Given the description of an element on the screen output the (x, y) to click on. 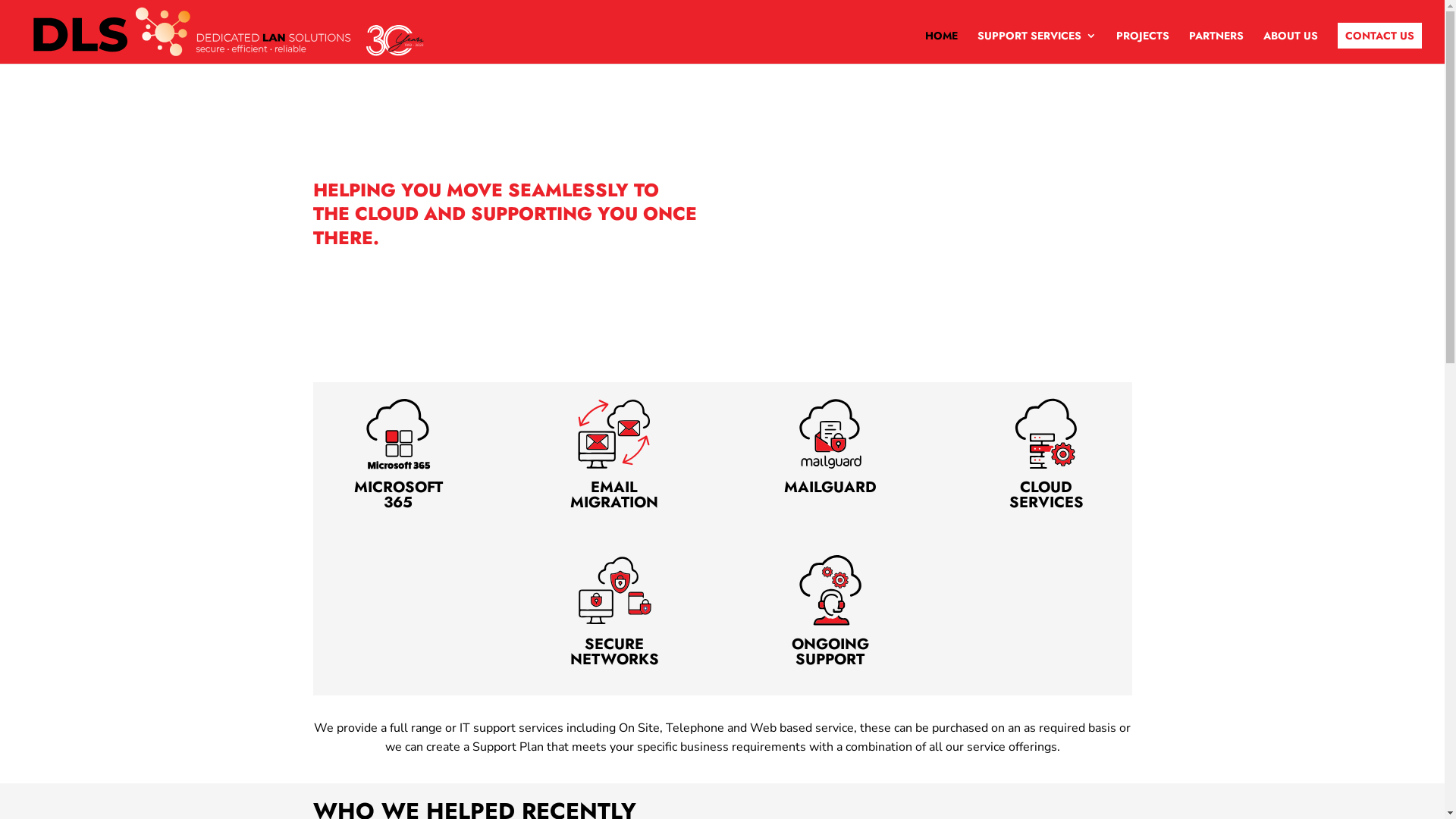
CONTACT US Element type: text (1379, 35)
HOME Element type: text (941, 46)
ABOUT US Element type: text (1290, 46)
SUPPORT SERVICES Element type: text (1036, 46)
PROJECTS Element type: text (1142, 46)
PARTNERS Element type: text (1216, 46)
